Given the description of an element on the screen output the (x, y) to click on. 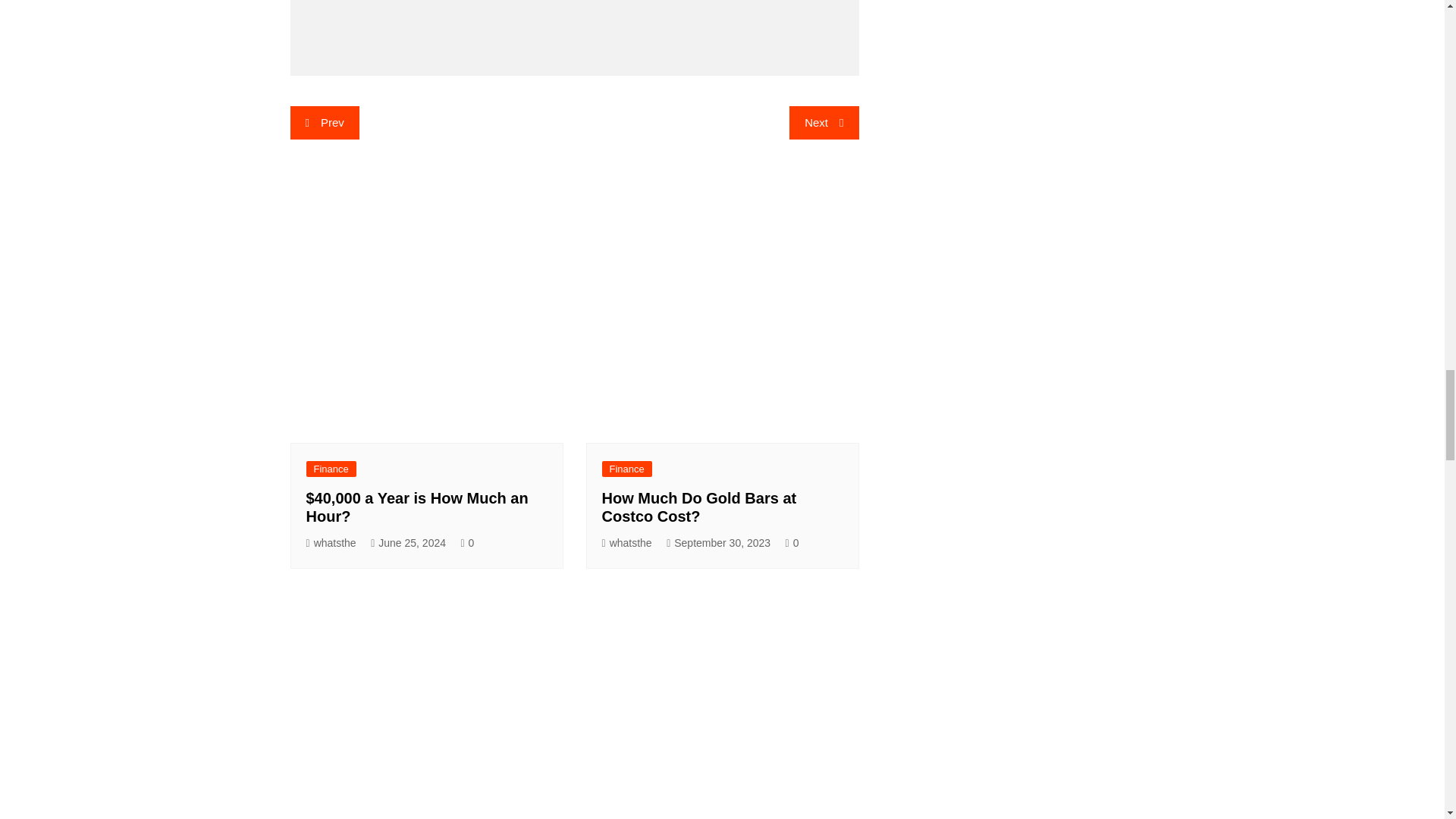
Finance (330, 468)
Prev (323, 122)
June 25, 2024 (408, 543)
whatsthe (330, 543)
Next (824, 122)
